Given the description of an element on the screen output the (x, y) to click on. 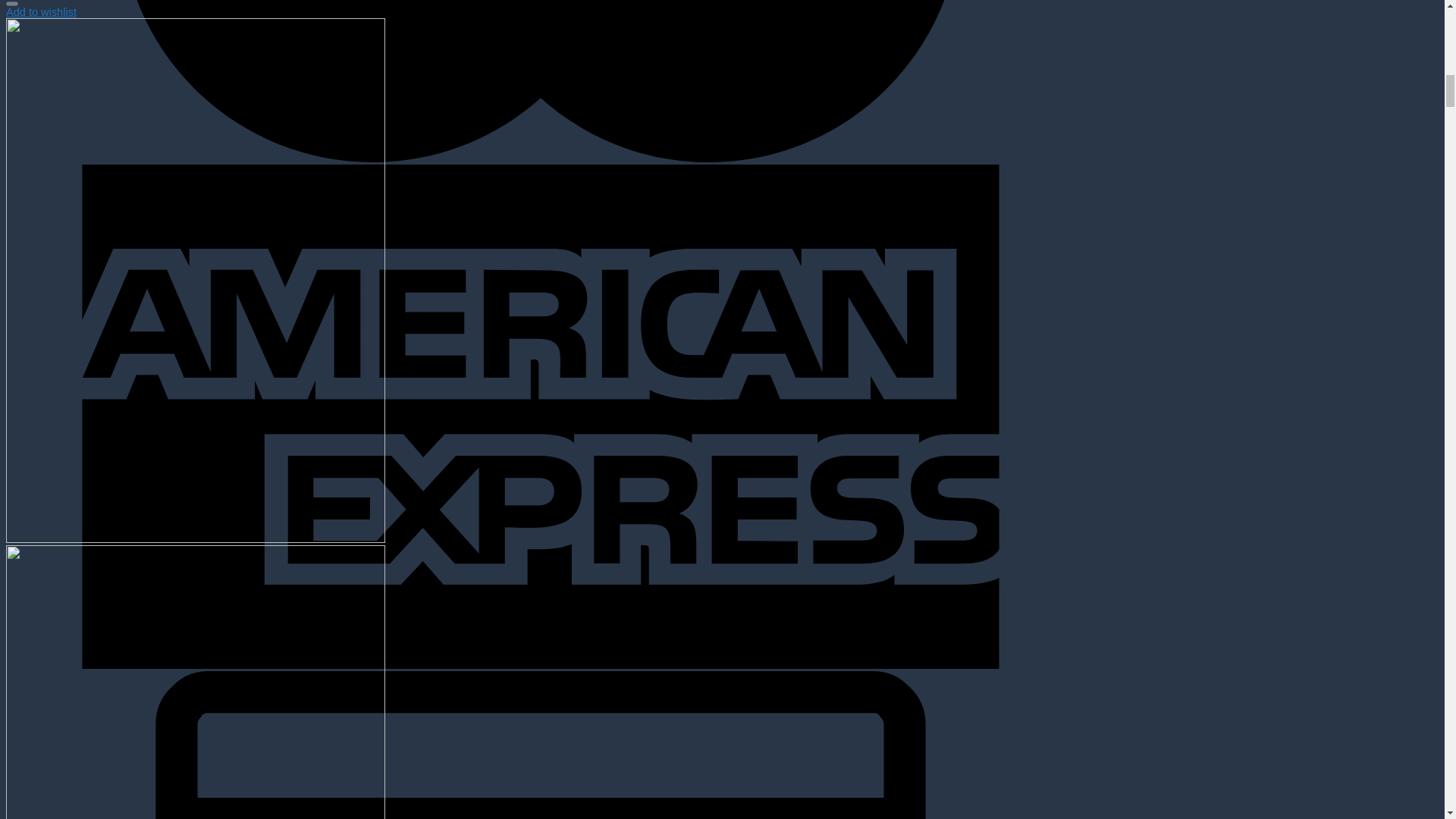
Faber-Castell-Kindergarten-Grip-Crayons-Pack-of-6-2-1 (195, 682)
